Given the description of an element on the screen output the (x, y) to click on. 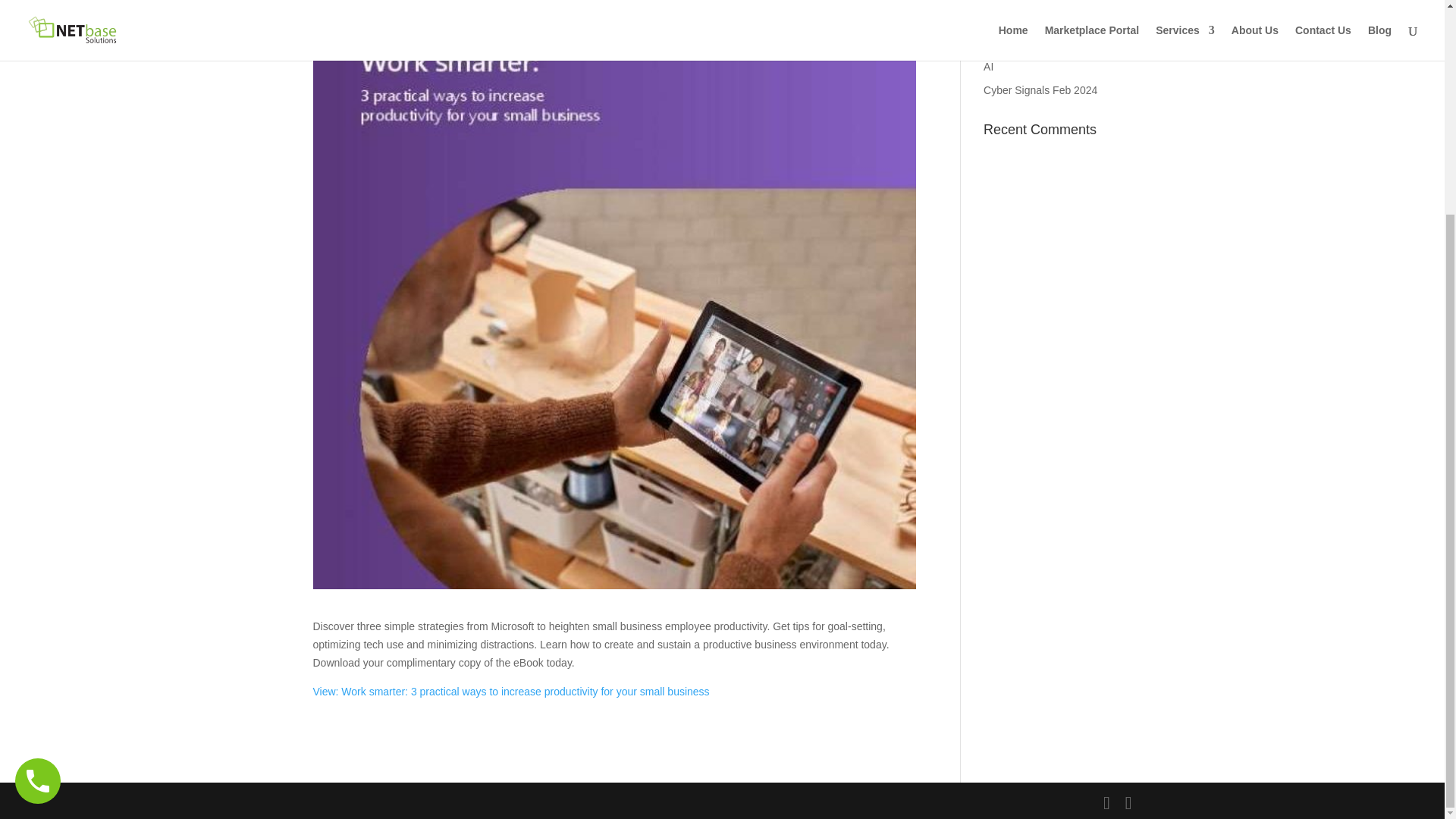
Achieving Sales Success with AI (1054, 58)
Magic Quadrant for Sales Force Automation Platforms (1049, 16)
Cyber Signals Feb 2024 (1040, 90)
